Given the description of an element on the screen output the (x, y) to click on. 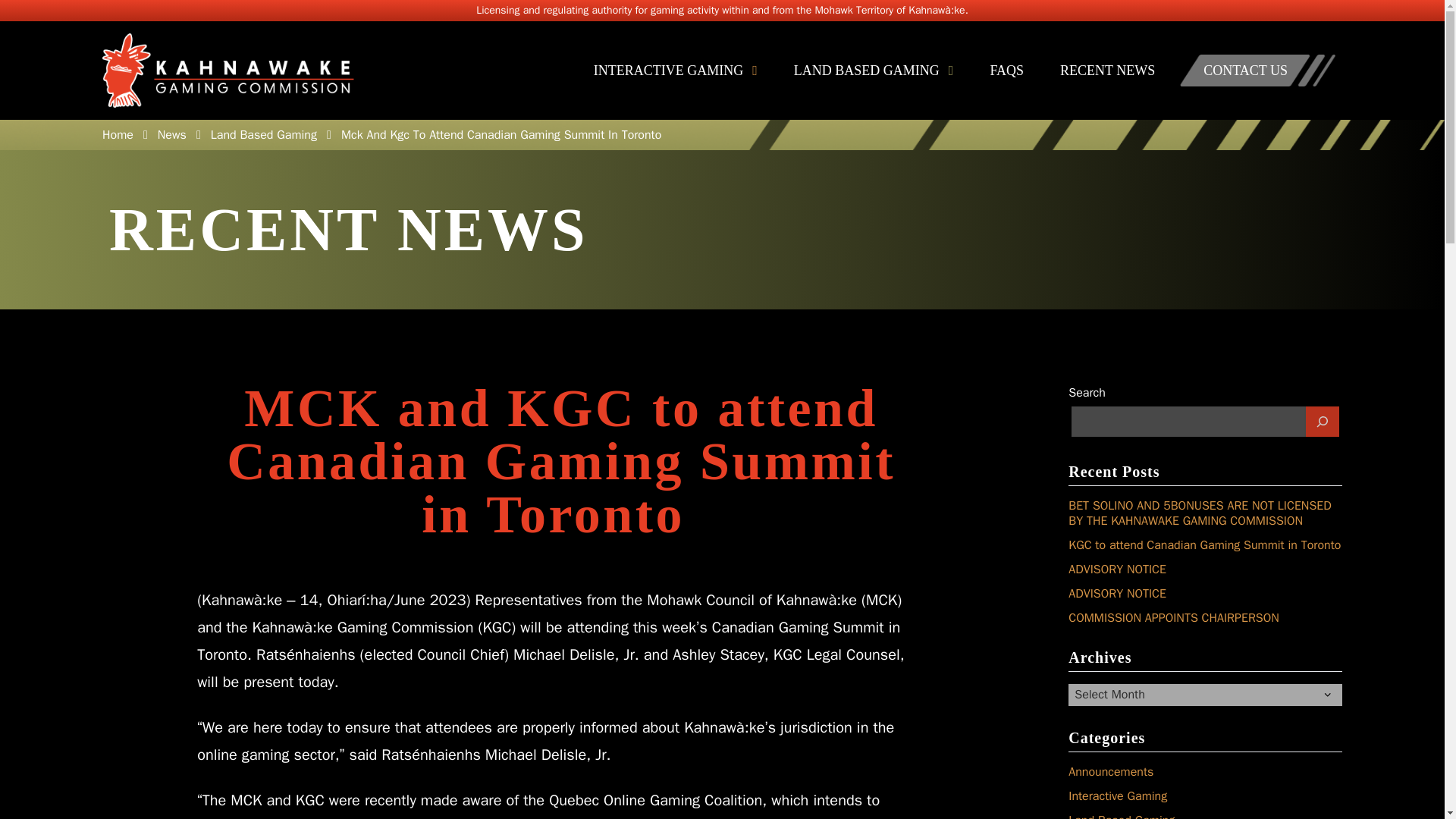
Announcements (1110, 771)
COMMISSION APPOINTS CHAIRPERSON (1173, 617)
News (171, 134)
FAQS (1005, 70)
KGC to attend Canadian Gaming Summit in Toronto (1204, 544)
ADVISORY NOTICE (1117, 593)
LAND BASED GAMING (873, 70)
RECENT NEWS (1107, 70)
ADVISORY NOTICE (1117, 569)
CONTACT US (1245, 70)
Home (117, 134)
Interactive Gaming (1117, 795)
INTERACTIVE GAMING (675, 70)
Land Based Gaming (264, 134)
